Given the description of an element on the screen output the (x, y) to click on. 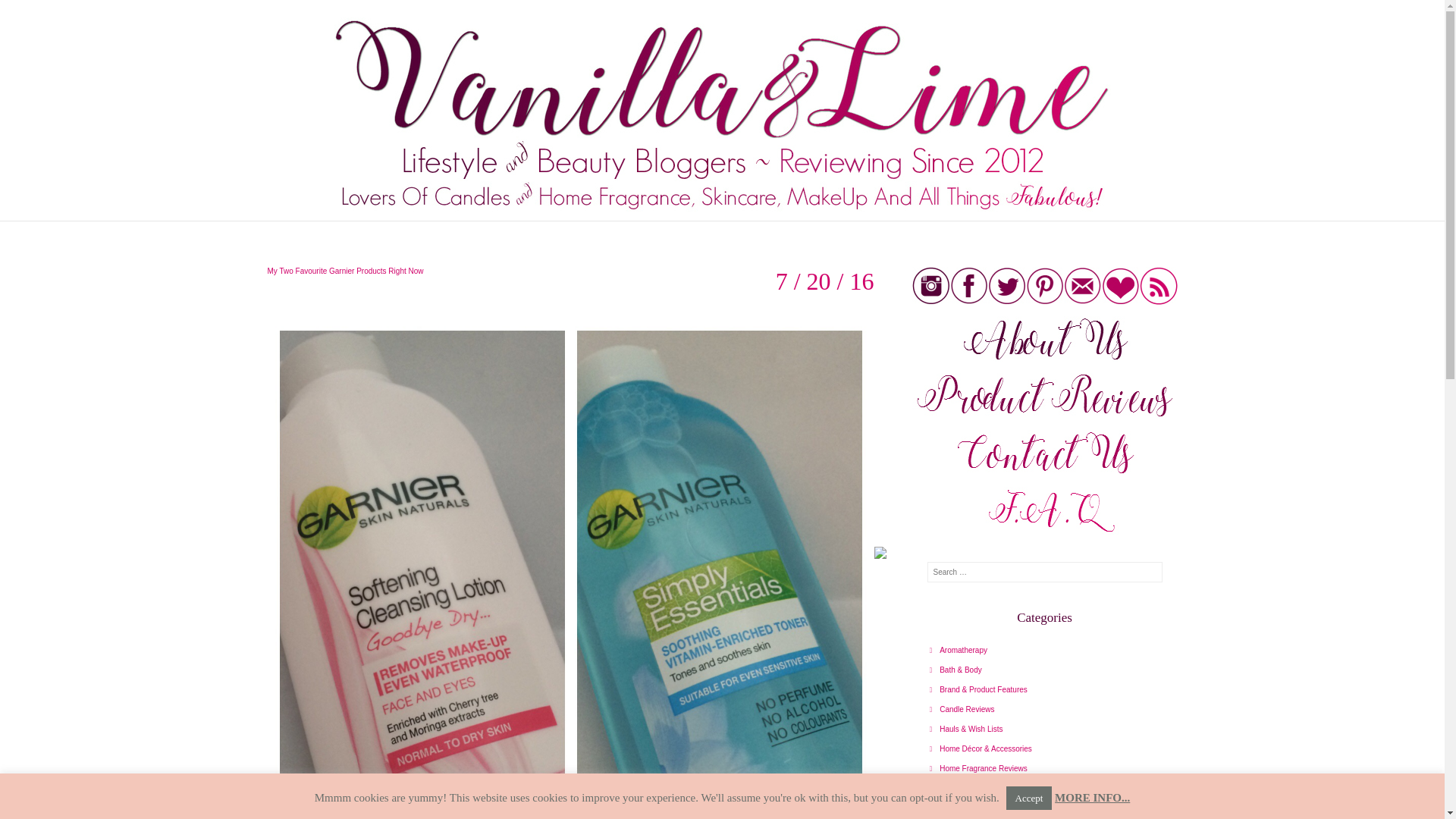
skip to content (260, 229)
Home Fragrance Reviews (978, 768)
Lifestyle (949, 787)
Candle Reviews (962, 709)
Aromatherapy (958, 650)
Search (29, 14)
